Given the description of an element on the screen output the (x, y) to click on. 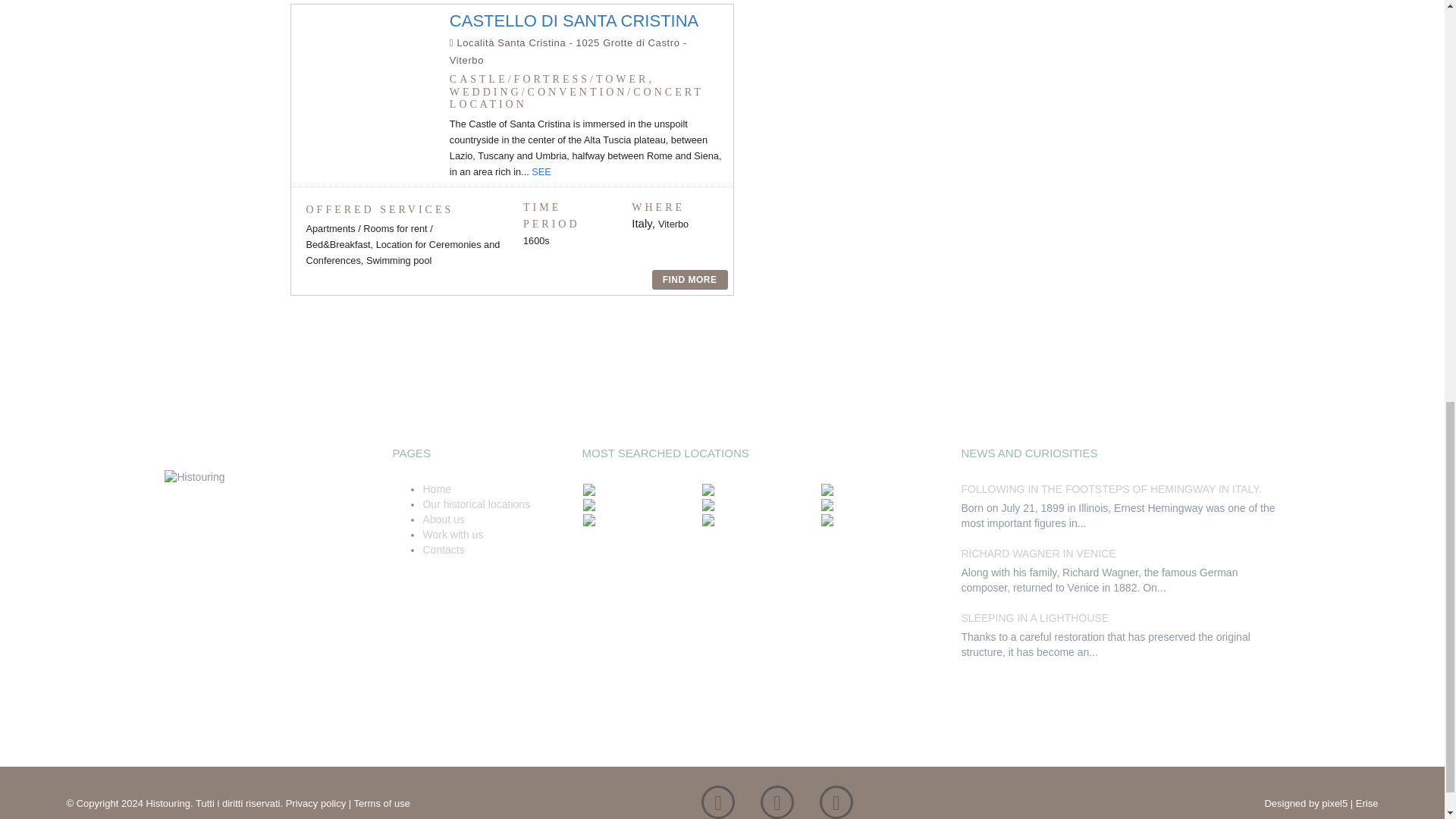
Home (435, 489)
FOLLOWING IN THE FOOTSTEPS OF HEMINGWAY IN ITALY. (1110, 489)
CASTELLO DI SANTA CRISTINA (573, 20)
SLEEPING IN A LIGHTHOUSE (1034, 617)
Work with us (452, 534)
Vai su Amazon (836, 806)
Privacy policy (315, 803)
Terms of use (381, 803)
RICHARD WAGNER IN VENICE (1037, 553)
Contacts (443, 549)
